Given the description of an element on the screen output the (x, y) to click on. 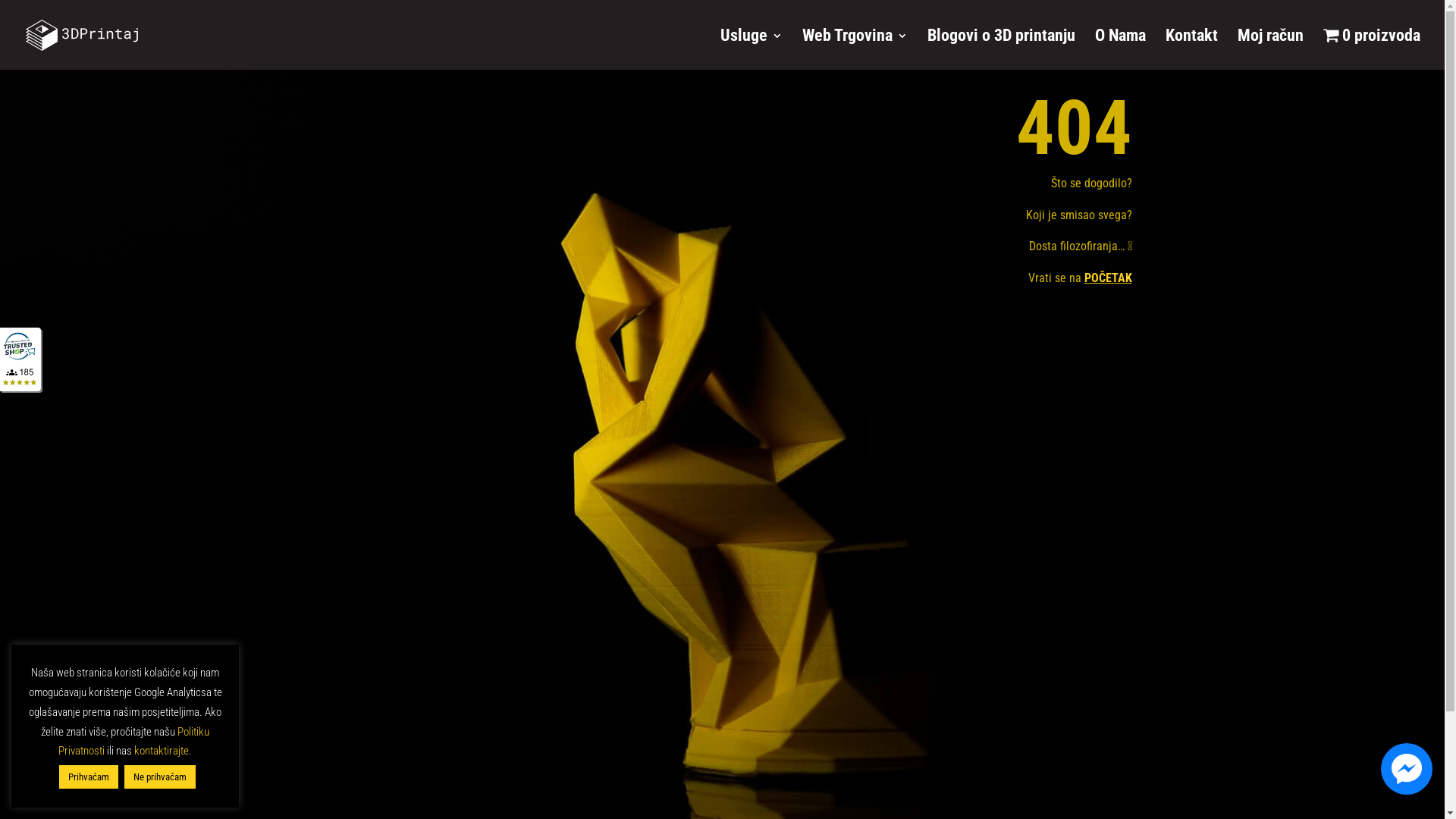
Kontakt Element type: text (1190, 48)
kontaktirajte Element type: text (161, 750)
Politiku Privatnosti Element type: text (133, 741)
Usluge Element type: text (751, 48)
0 proizvoda Element type: text (1371, 47)
Blogovi o 3D printanju Element type: text (1000, 48)
O Nama Element type: text (1120, 48)
Web Trgovina Element type: text (854, 48)
